Given the description of an element on the screen output the (x, y) to click on. 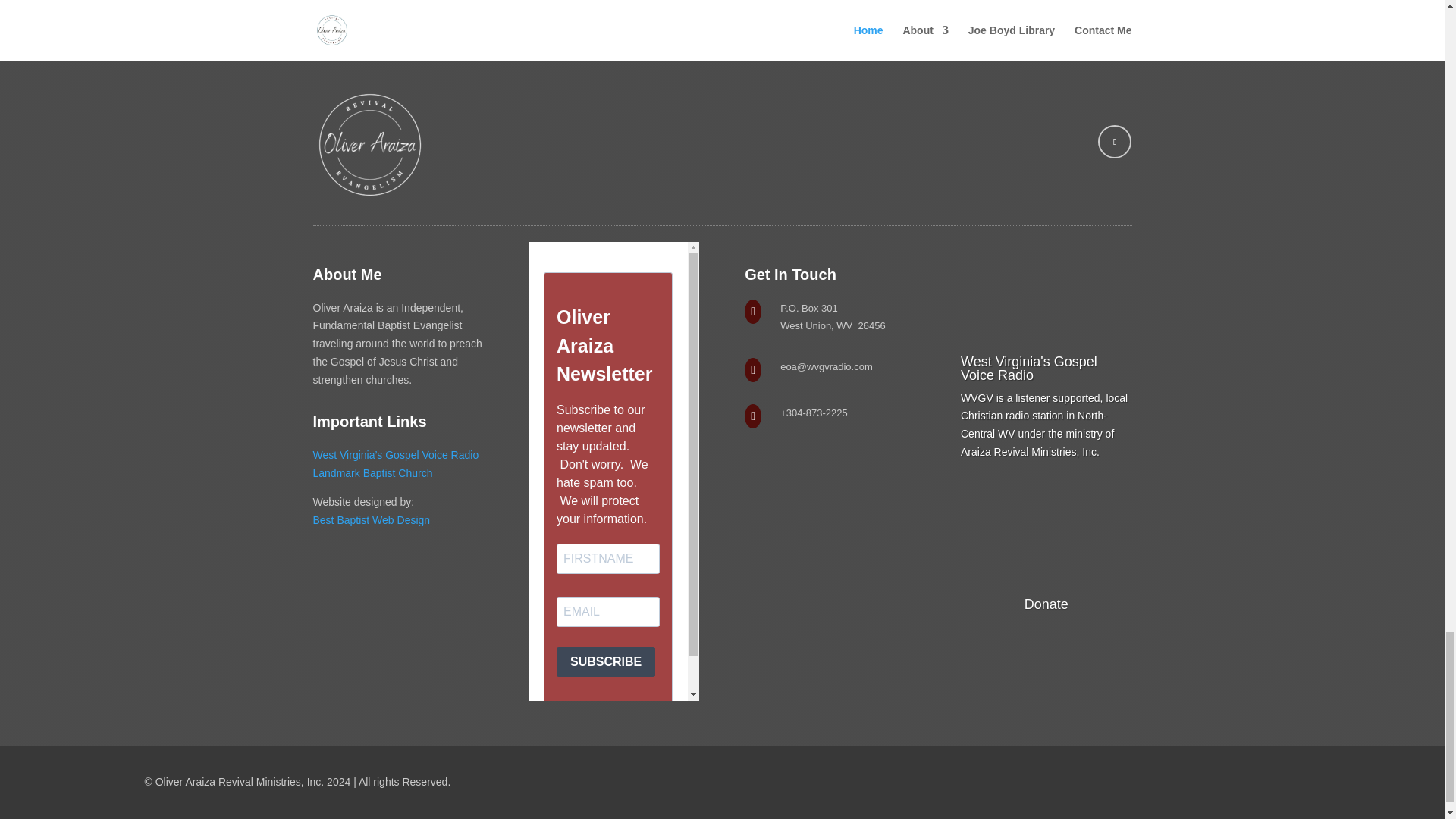
Landmark Baptist Church (372, 472)
OLIVER ARAIZA Signature Logo WHITE (369, 144)
West Virginia's Gospel Voice Radio (1028, 368)
Best Baptist Web Design (371, 520)
Follow on X (1114, 141)
Donate (1046, 604)
